Given the description of an element on the screen output the (x, y) to click on. 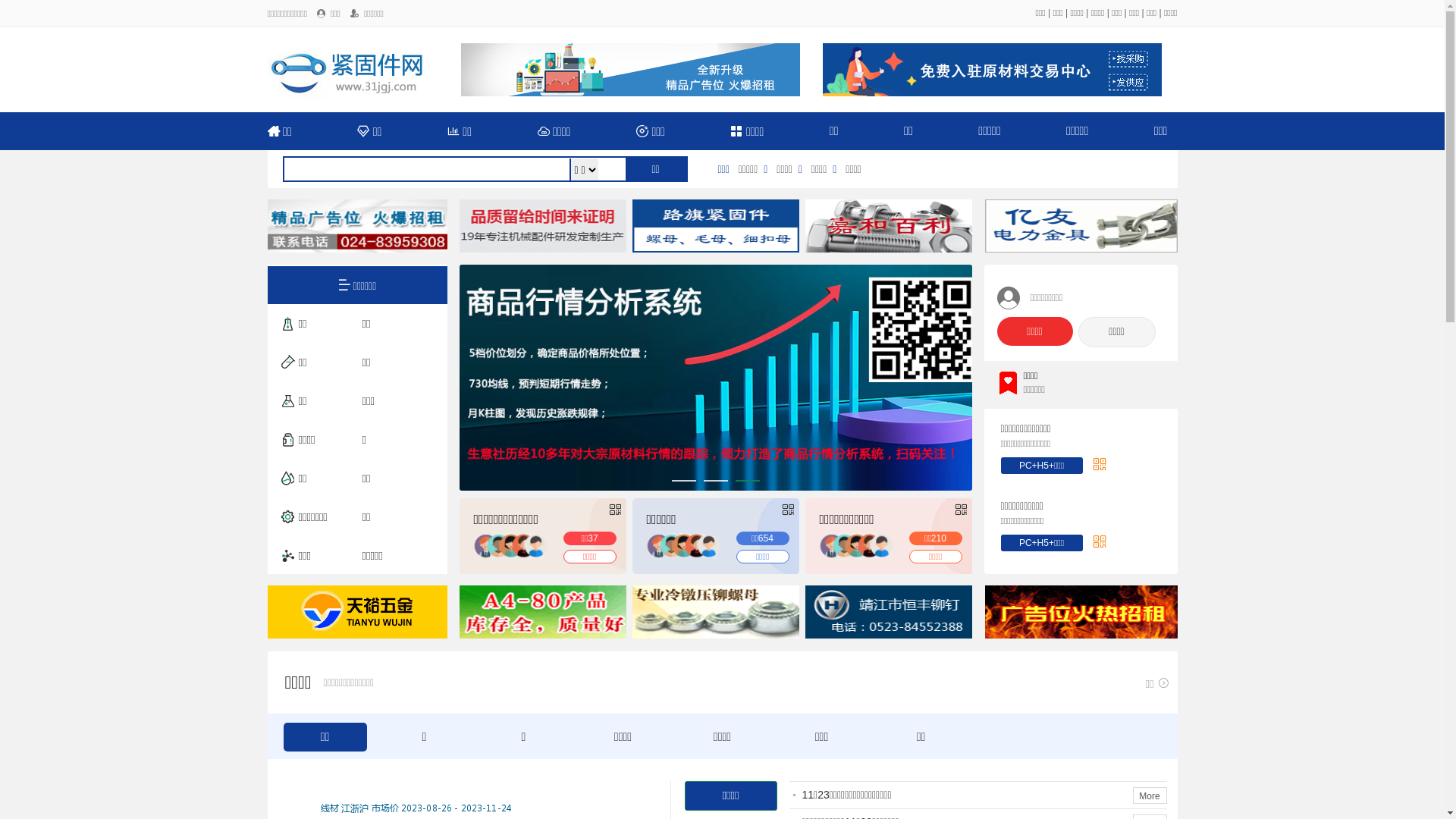
More Element type: text (1149, 795)
